Given the description of an element on the screen output the (x, y) to click on. 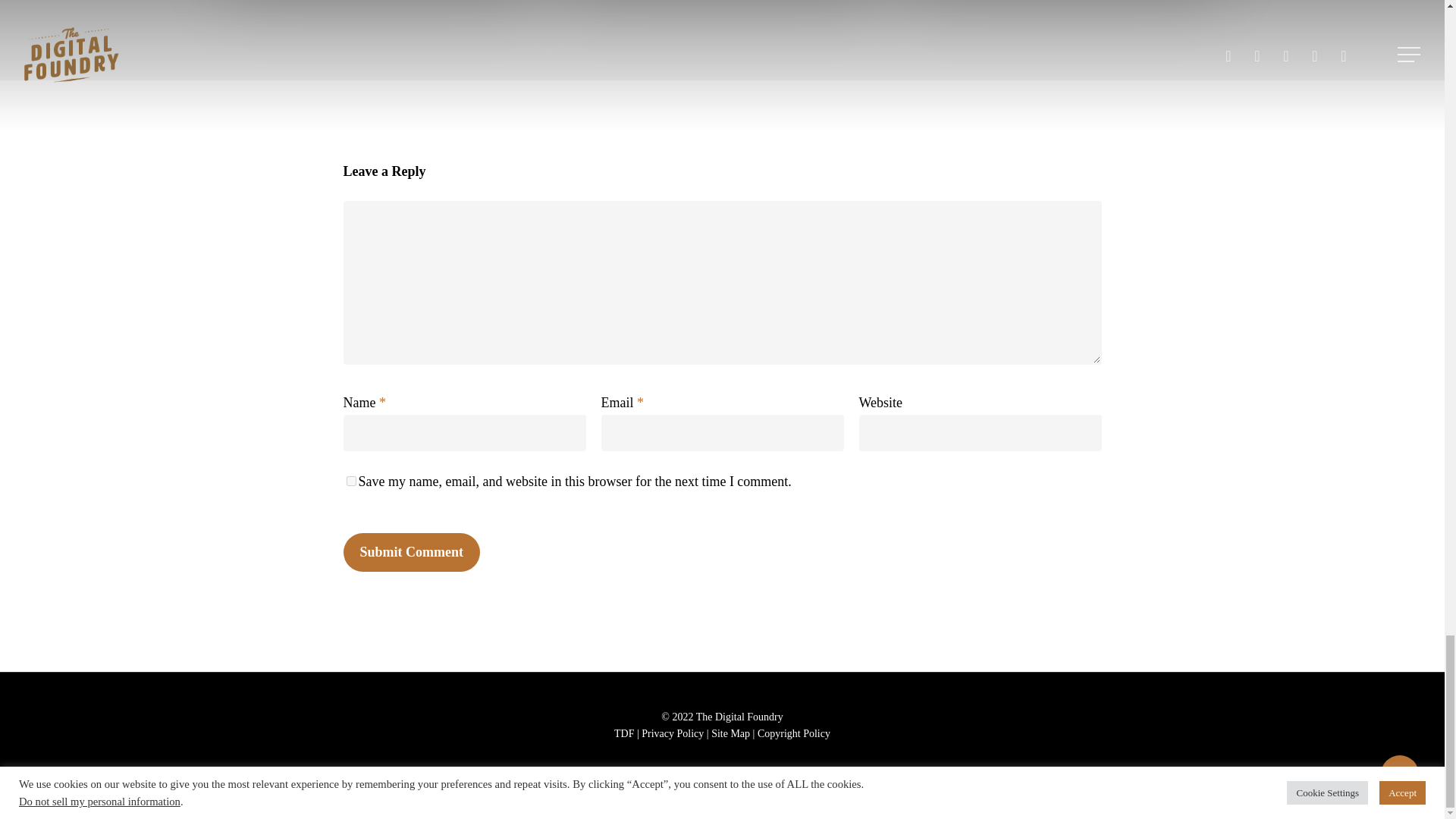
Privacy Policy (672, 733)
TDF (623, 733)
Submit Comment (411, 552)
yes (350, 480)
Site Map (730, 733)
Submit Comment (411, 552)
Copyright Policy (793, 733)
